Given the description of an element on the screen output the (x, y) to click on. 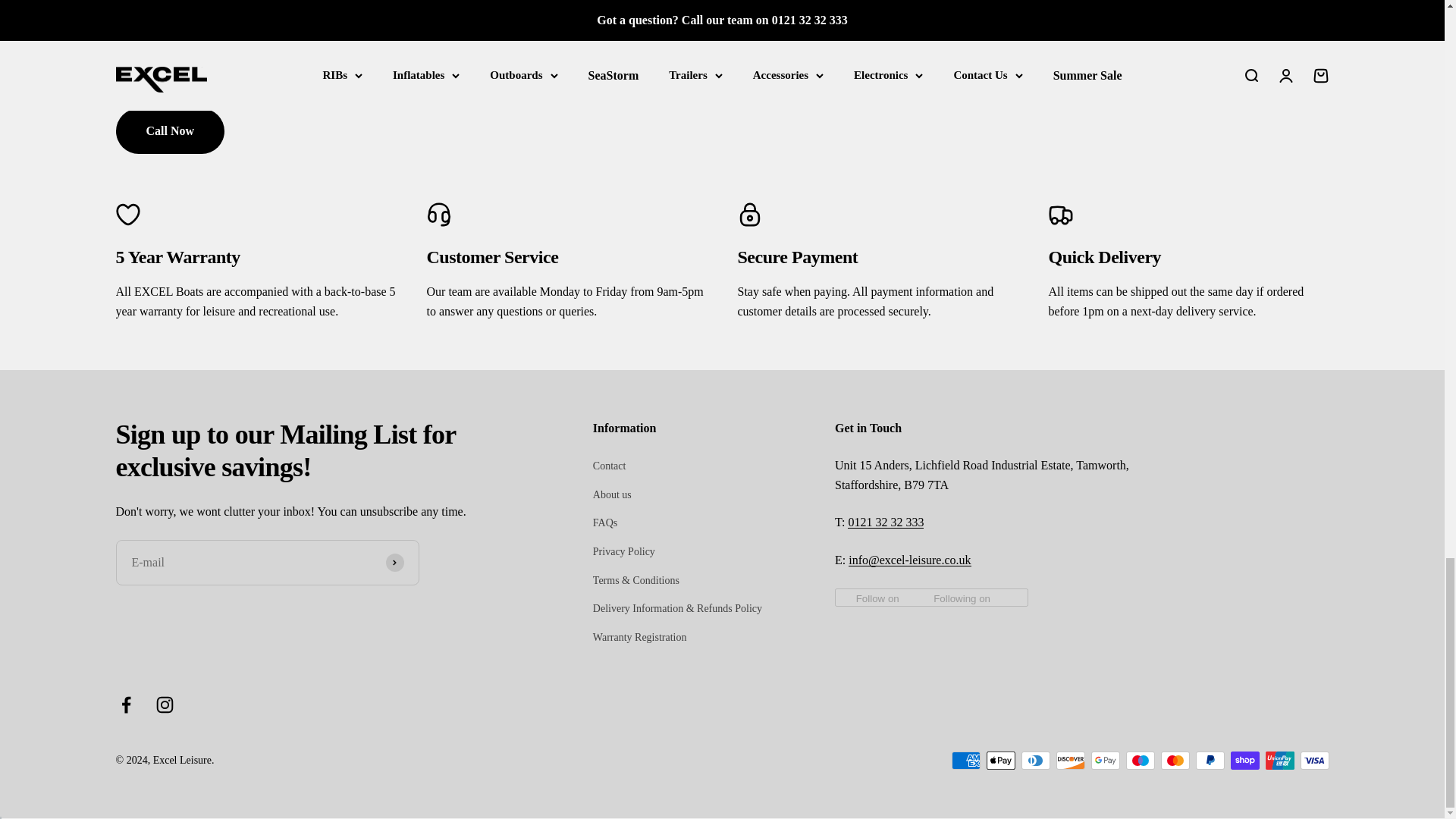
tel:0121 32 32 333 (885, 521)
